Given the description of an element on the screen output the (x, y) to click on. 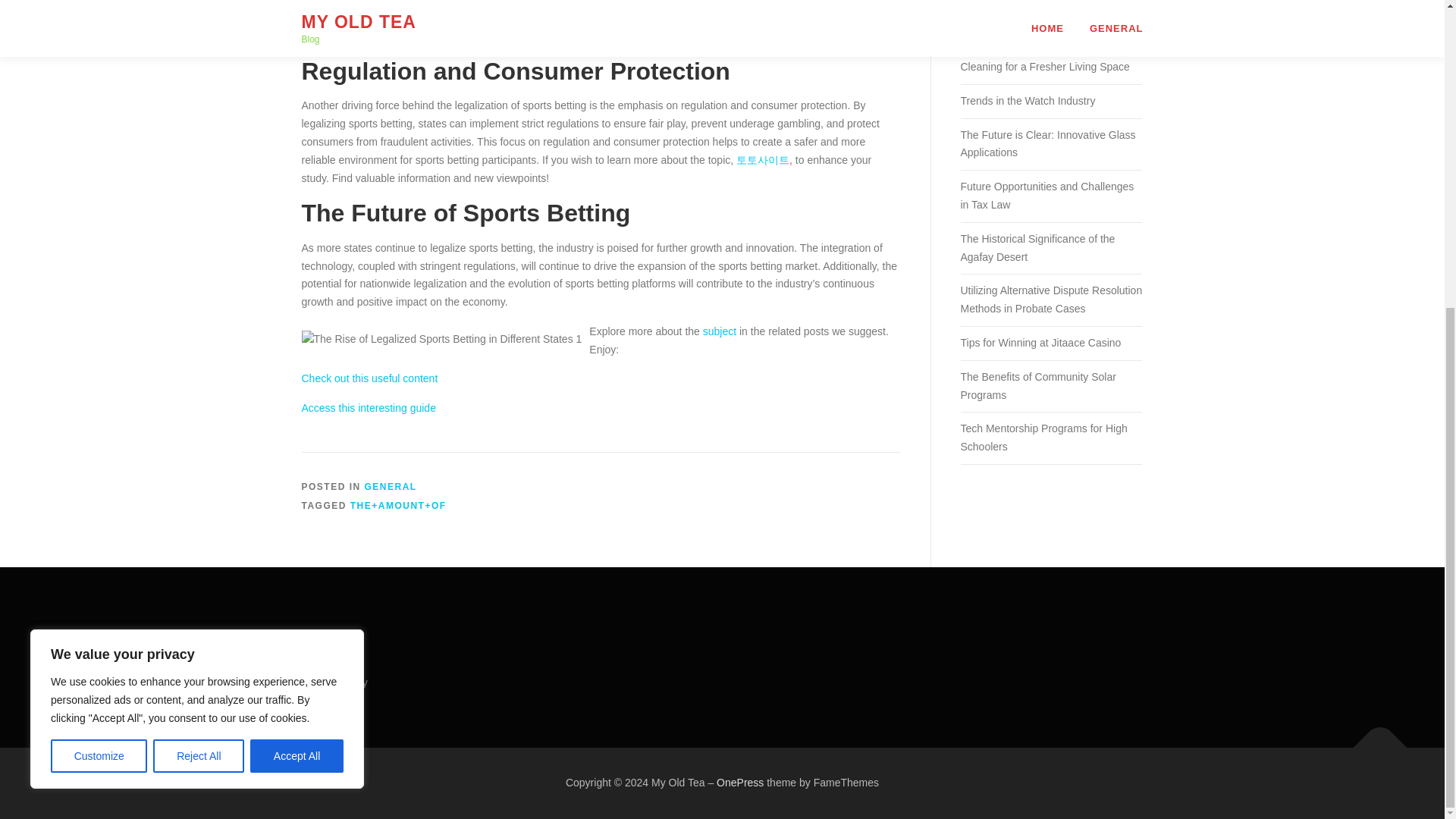
Back To Top (1372, 740)
Accept All (296, 268)
subject (719, 331)
GENERAL (390, 486)
The Future is Clear: Innovative Glass Applications (1047, 143)
Trends in the Watch Industry (1026, 101)
Access this interesting guide (368, 408)
Future Opportunities and Challenges in Tax Law (1046, 195)
Check out this useful content (369, 378)
Reject All (198, 268)
